Given the description of an element on the screen output the (x, y) to click on. 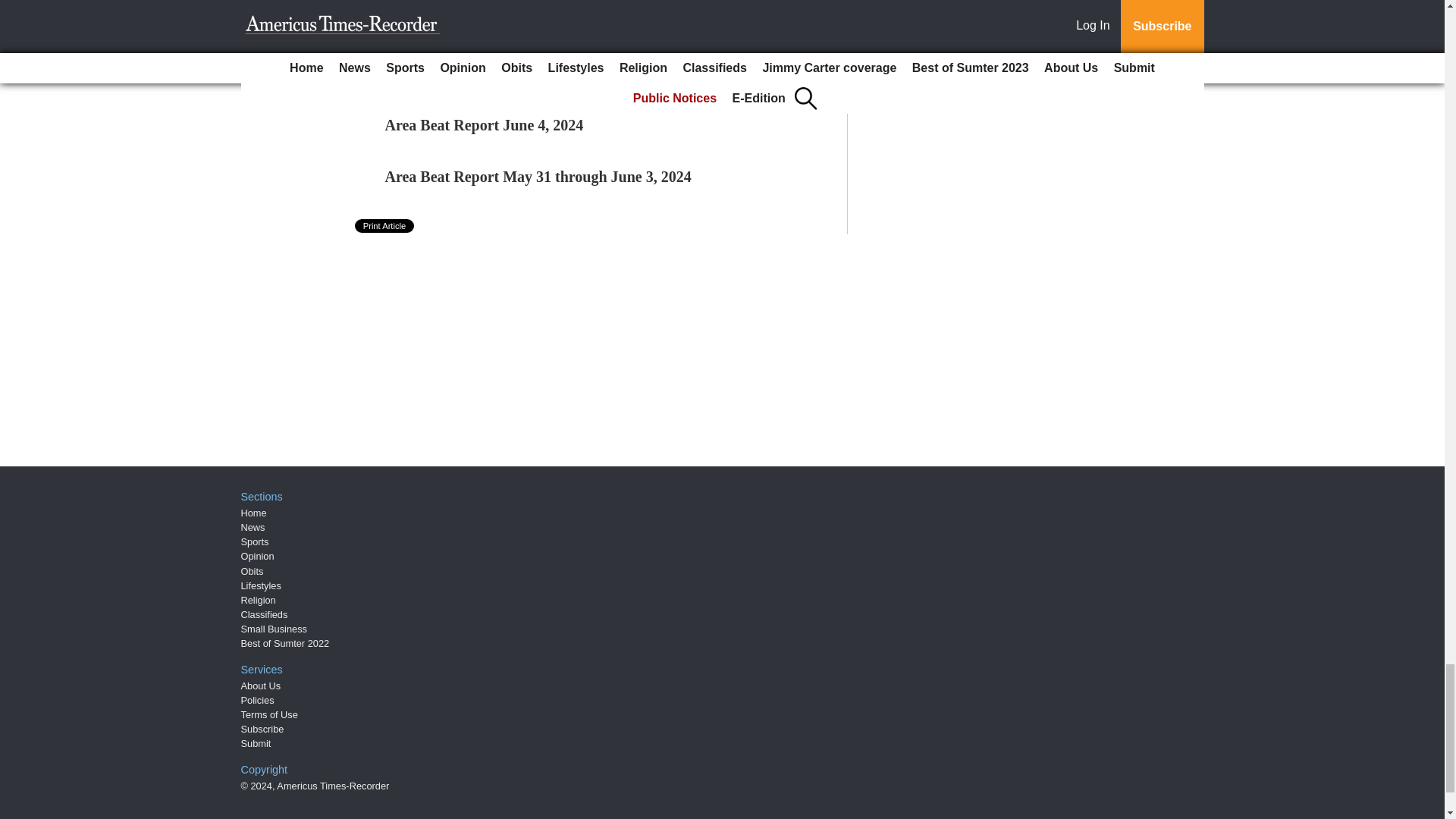
Area Beat Report May 31 through June 3, 2024 (538, 176)
Area Beat Report June 4, 2024 (484, 125)
